Given the description of an element on the screen output the (x, y) to click on. 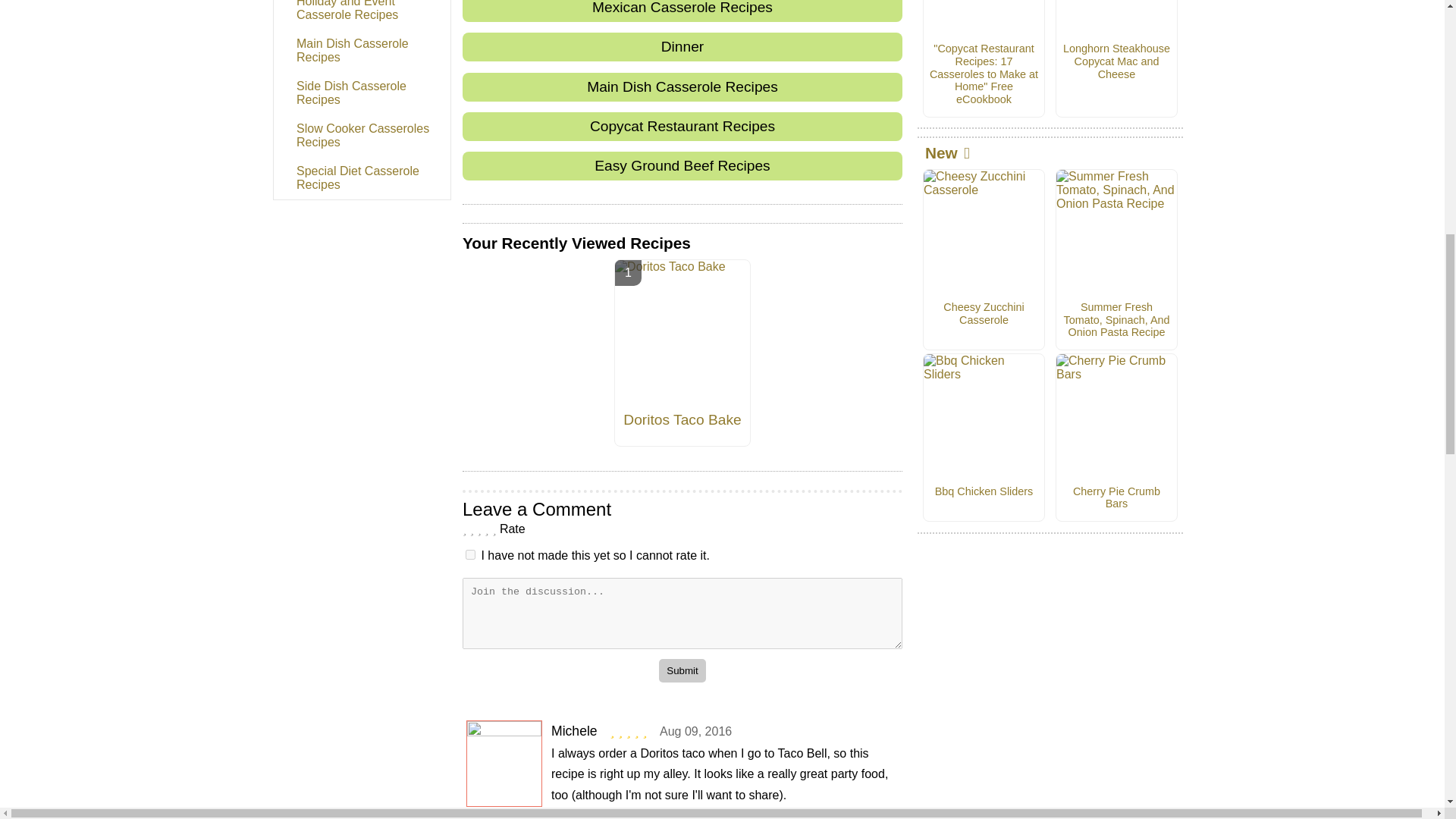
Submit (681, 670)
1 (470, 554)
